Given the description of an element on the screen output the (x, y) to click on. 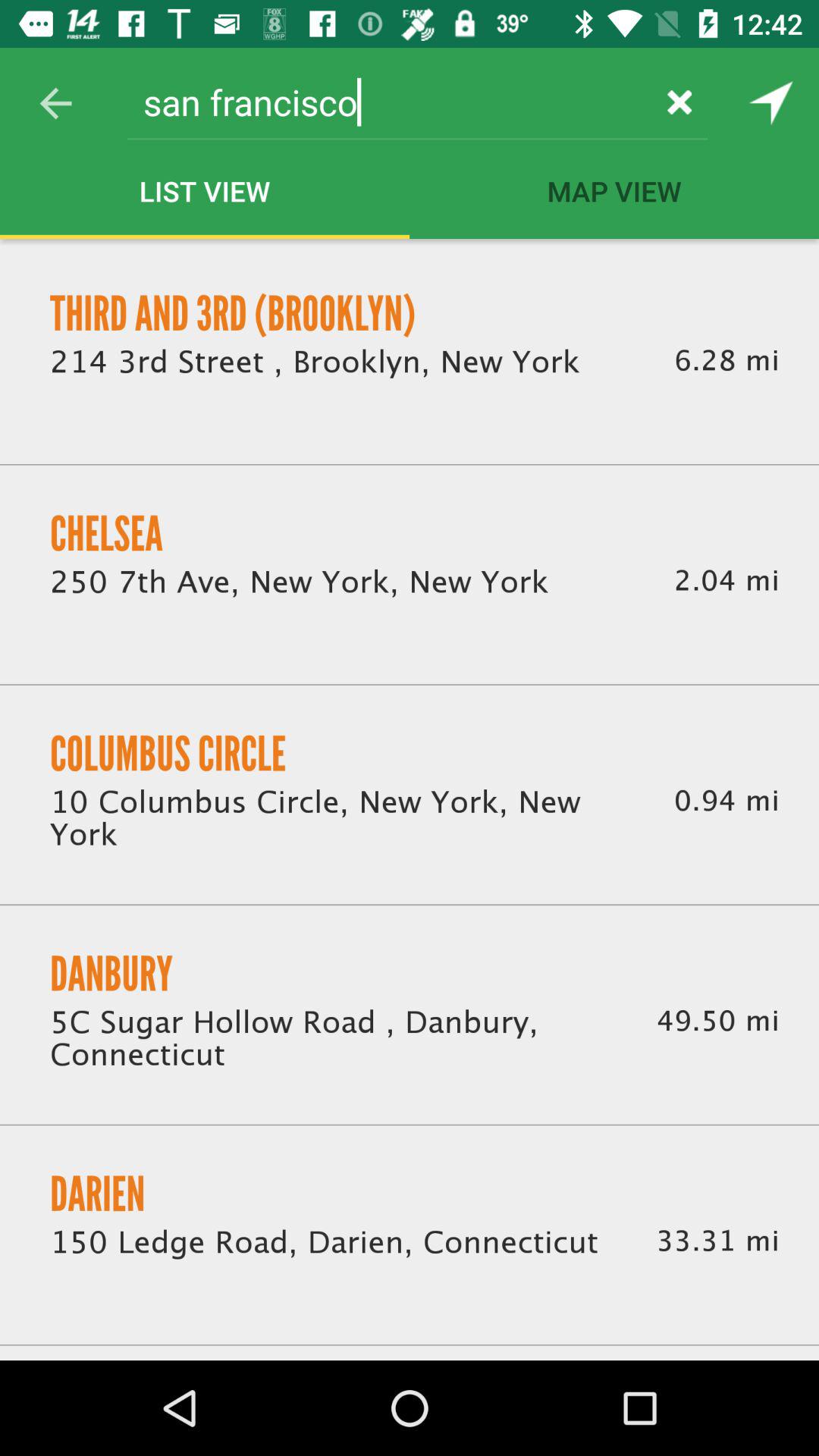
turn off icon below danbury (334, 1040)
